Given the description of an element on the screen output the (x, y) to click on. 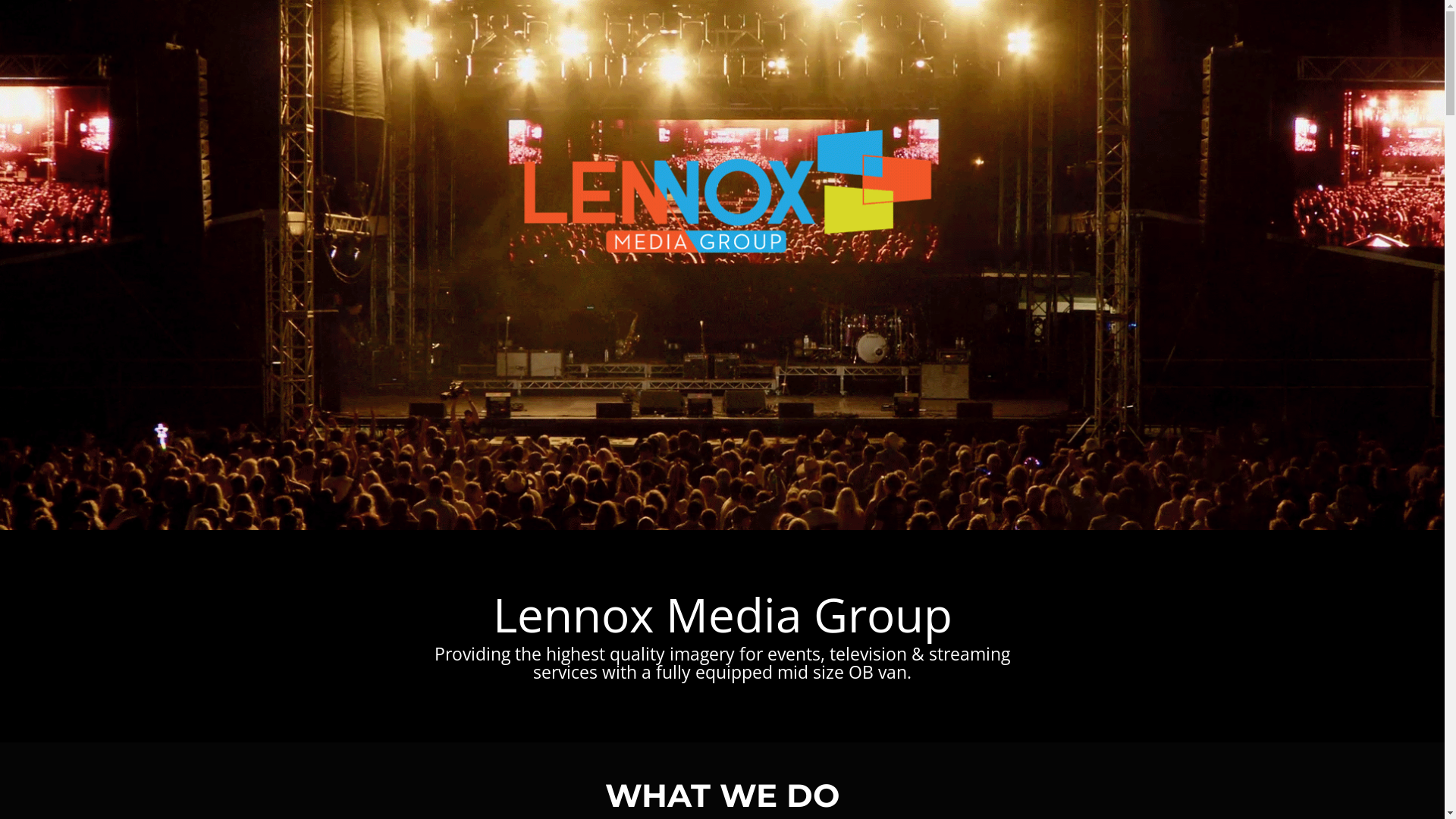
stage wide with logo Element type: hover (722, 265)
